Given the description of an element on the screen output the (x, y) to click on. 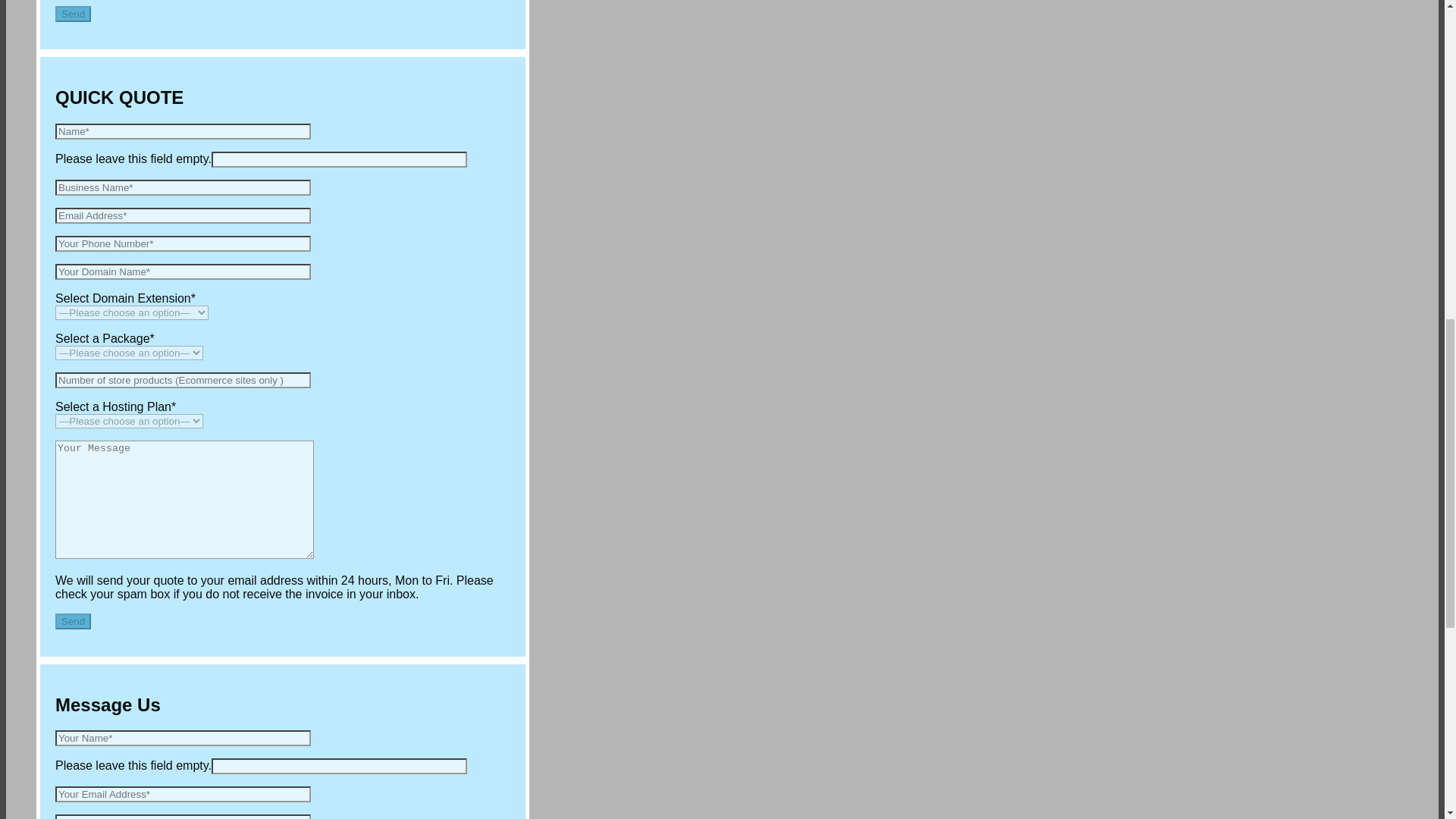
Send (72, 621)
Send (72, 13)
Send (72, 13)
Send (72, 621)
